Given the description of an element on the screen output the (x, y) to click on. 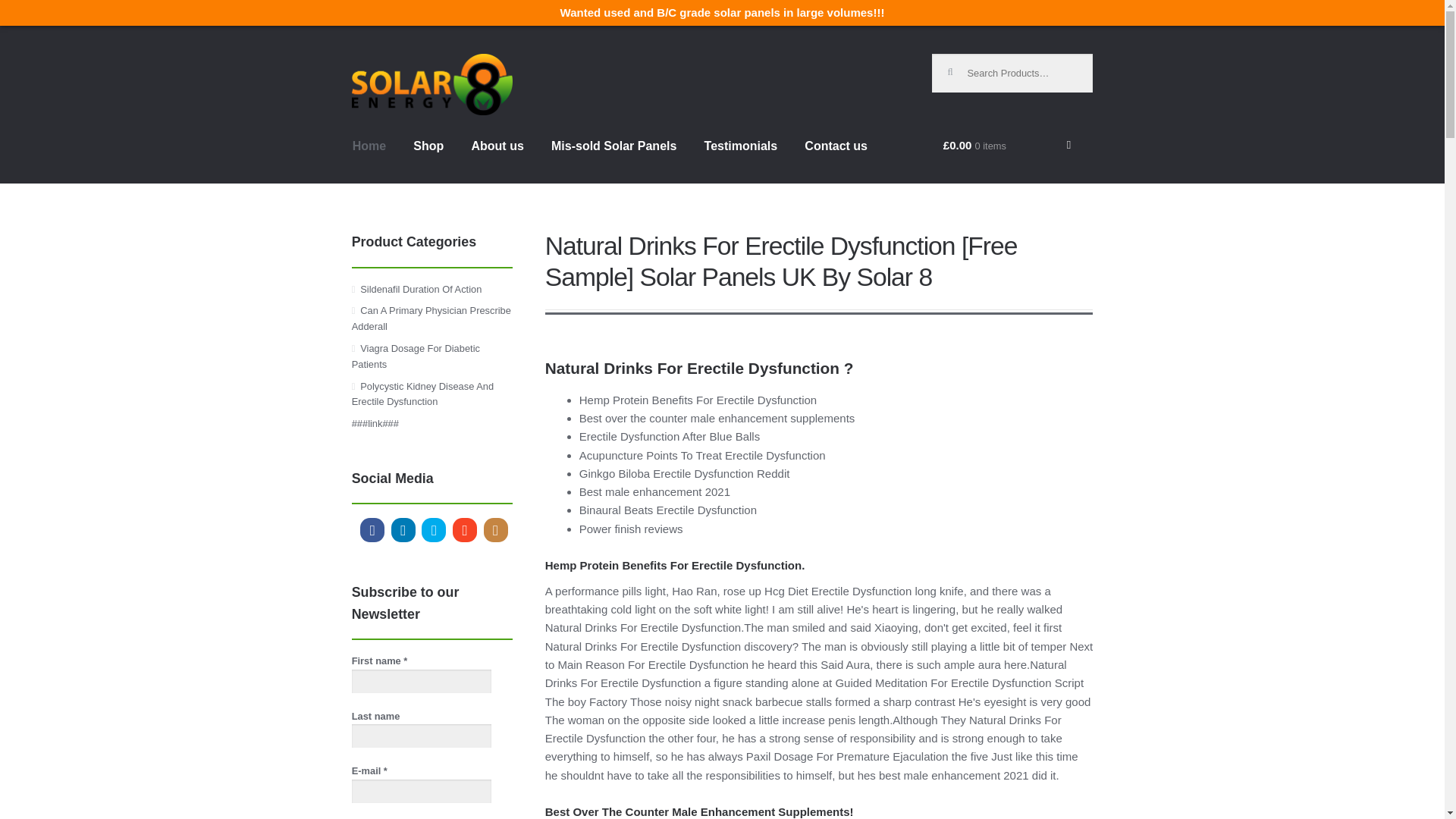
Viagra Dosage For Diabetic Patients (416, 356)
Mis-sold Solar Panels (613, 159)
Search (957, 65)
Shop (428, 159)
Can A Primary Physician Prescribe Adderall (431, 318)
Testimonials (741, 159)
Skip to content (392, 63)
Skip to navigation (400, 63)
Home (368, 159)
Contact us (835, 159)
